Given the description of an element on the screen output the (x, y) to click on. 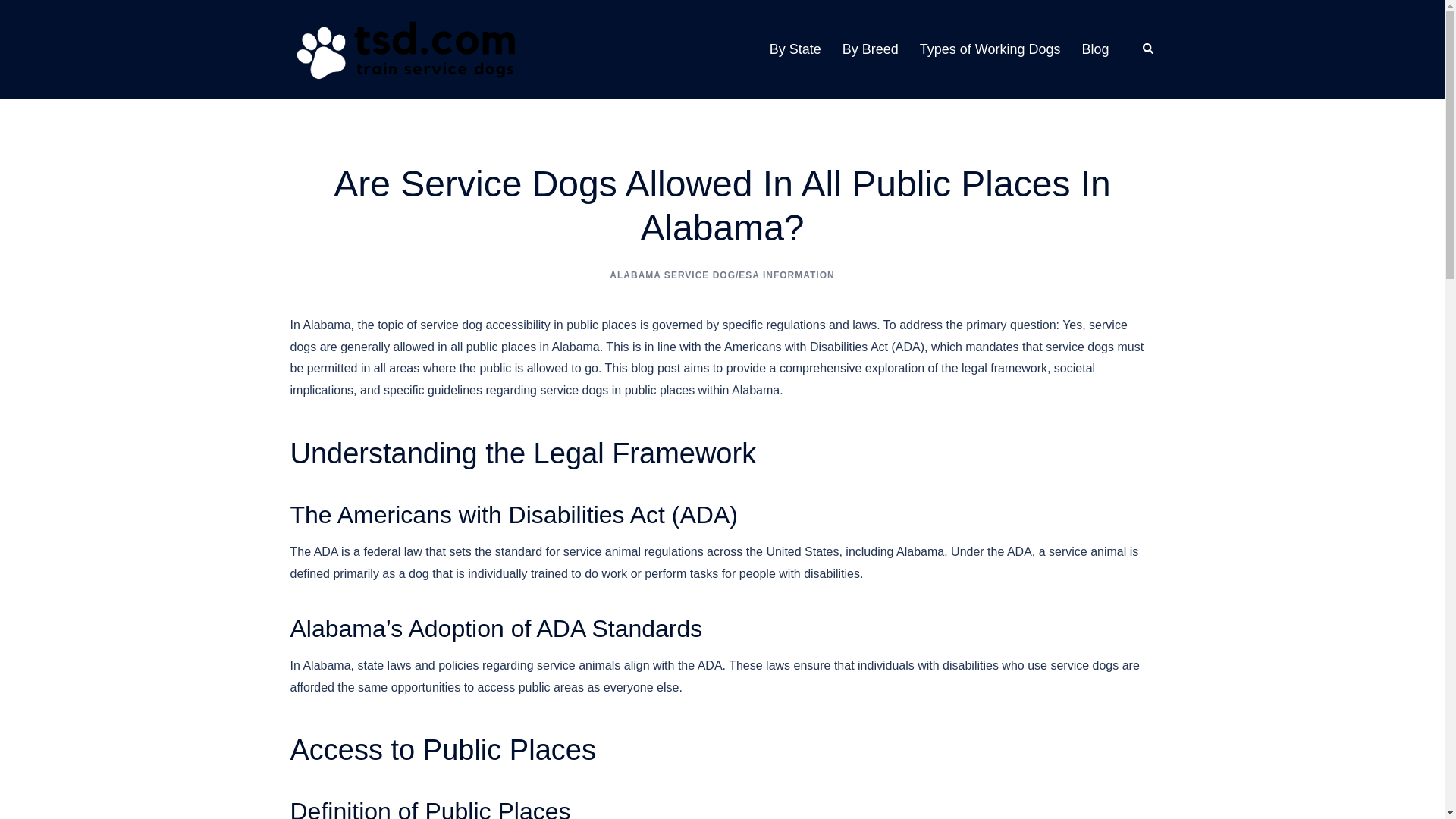
By Breed (870, 48)
Blog (1094, 48)
Types of Working Dogs (990, 48)
By State (795, 48)
Search (1147, 49)
TrainServiceDogs.com (402, 47)
